Given the description of an element on the screen output the (x, y) to click on. 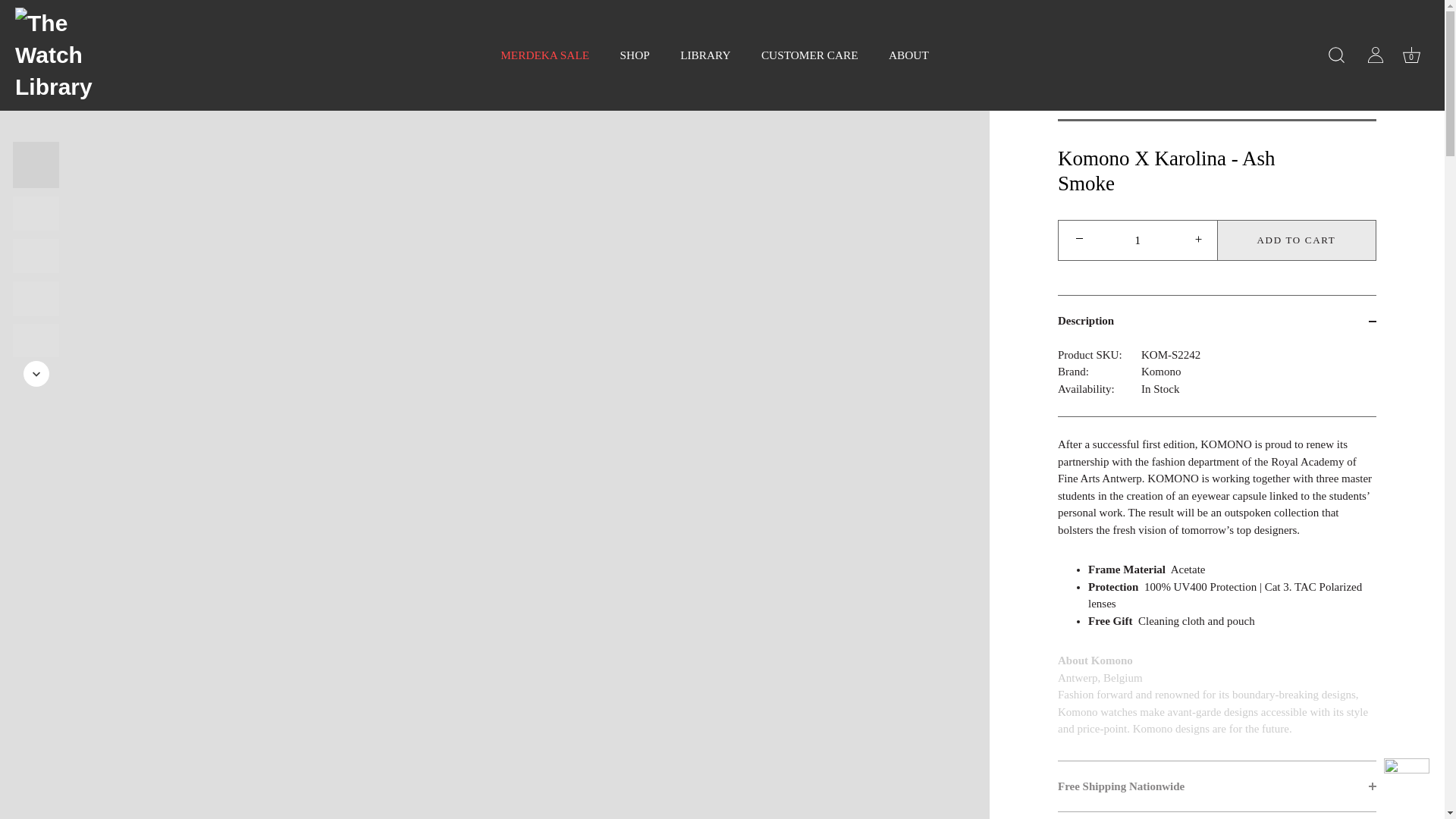
MERDEKA SALE (545, 54)
ABOUT (908, 54)
SHOP (634, 54)
CUSTOMER CARE (810, 54)
LIBRARY (705, 54)
